Given the description of an element on the screen output the (x, y) to click on. 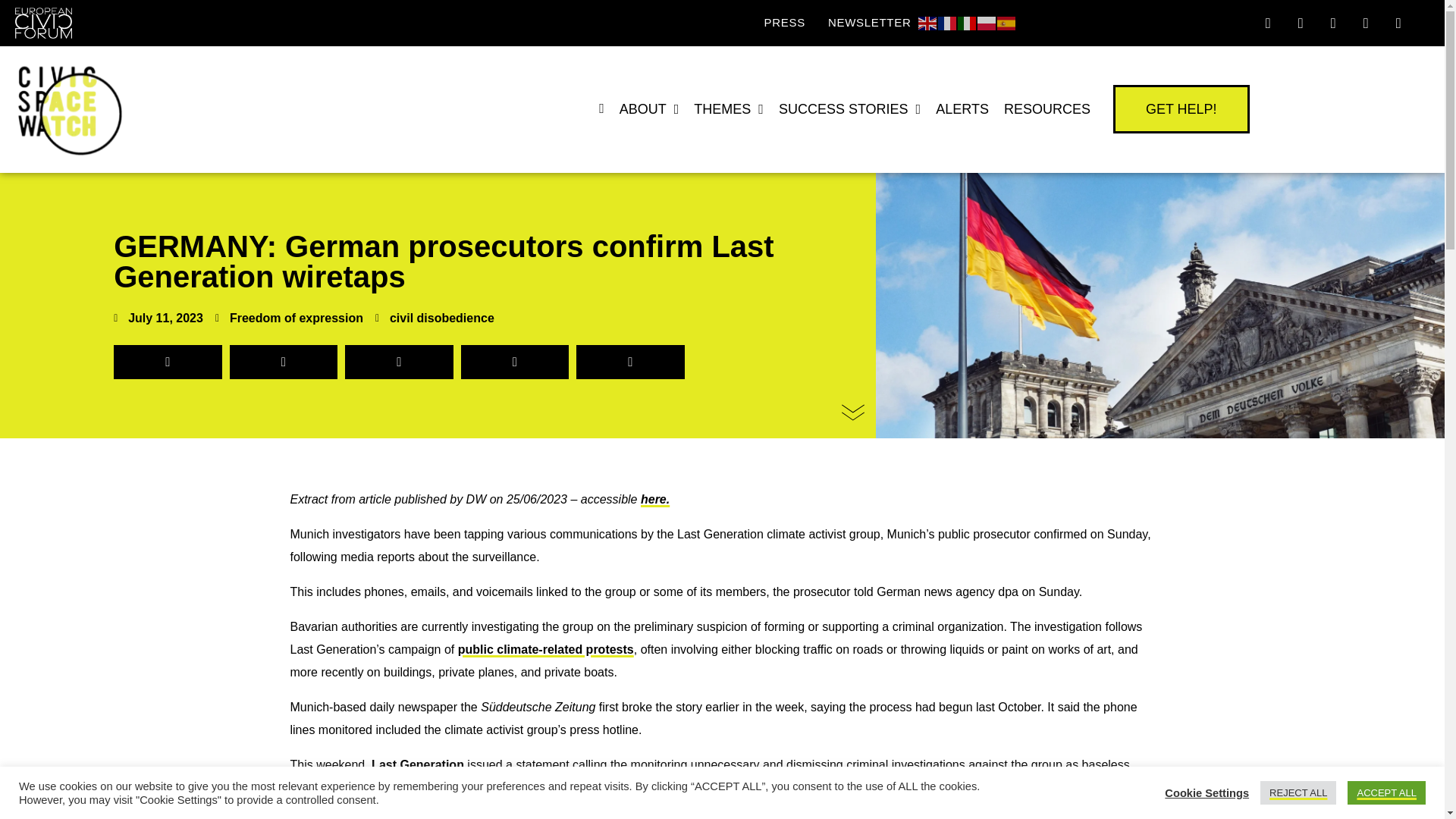
PRESS (784, 22)
Italian (967, 21)
French (947, 21)
Polish (986, 21)
ABOUT (649, 108)
THEMES (728, 108)
English (927, 21)
NEWSLETTER (869, 22)
Spanish (1006, 21)
